Given the description of an element on the screen output the (x, y) to click on. 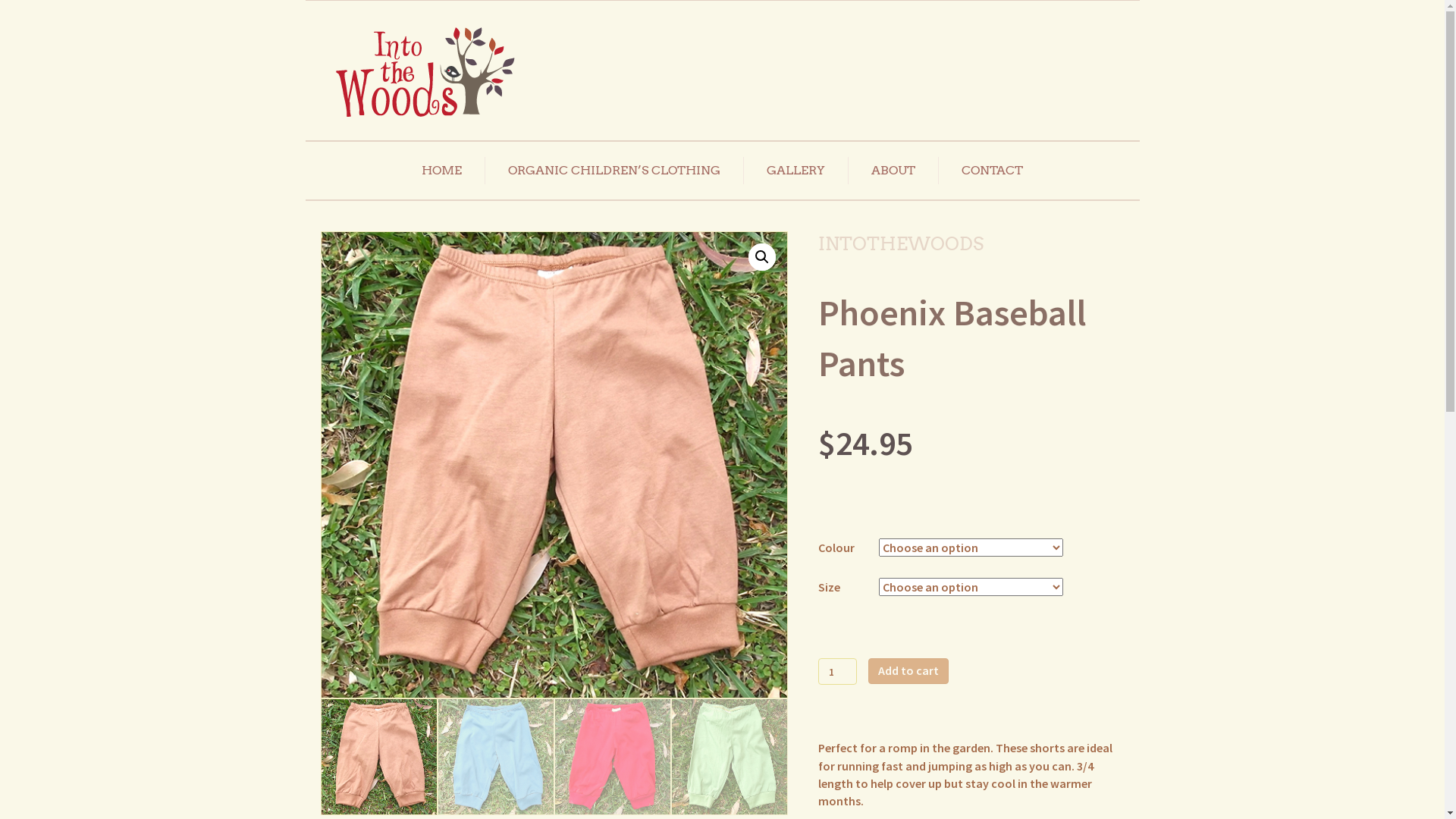
logo Element type: hover (424, 72)
Phoenix Baseball pants Arctic-1a Element type: hover (1021, 464)
ABOUT Element type: text (893, 170)
HOME Element type: text (441, 170)
GALLERY Element type: text (795, 170)
Add to cart Element type: text (908, 670)
CONTACT Element type: text (991, 170)
Phoenix Baseball Pants Bronze-1 Element type: hover (553, 464)
